Given the description of an element on the screen output the (x, y) to click on. 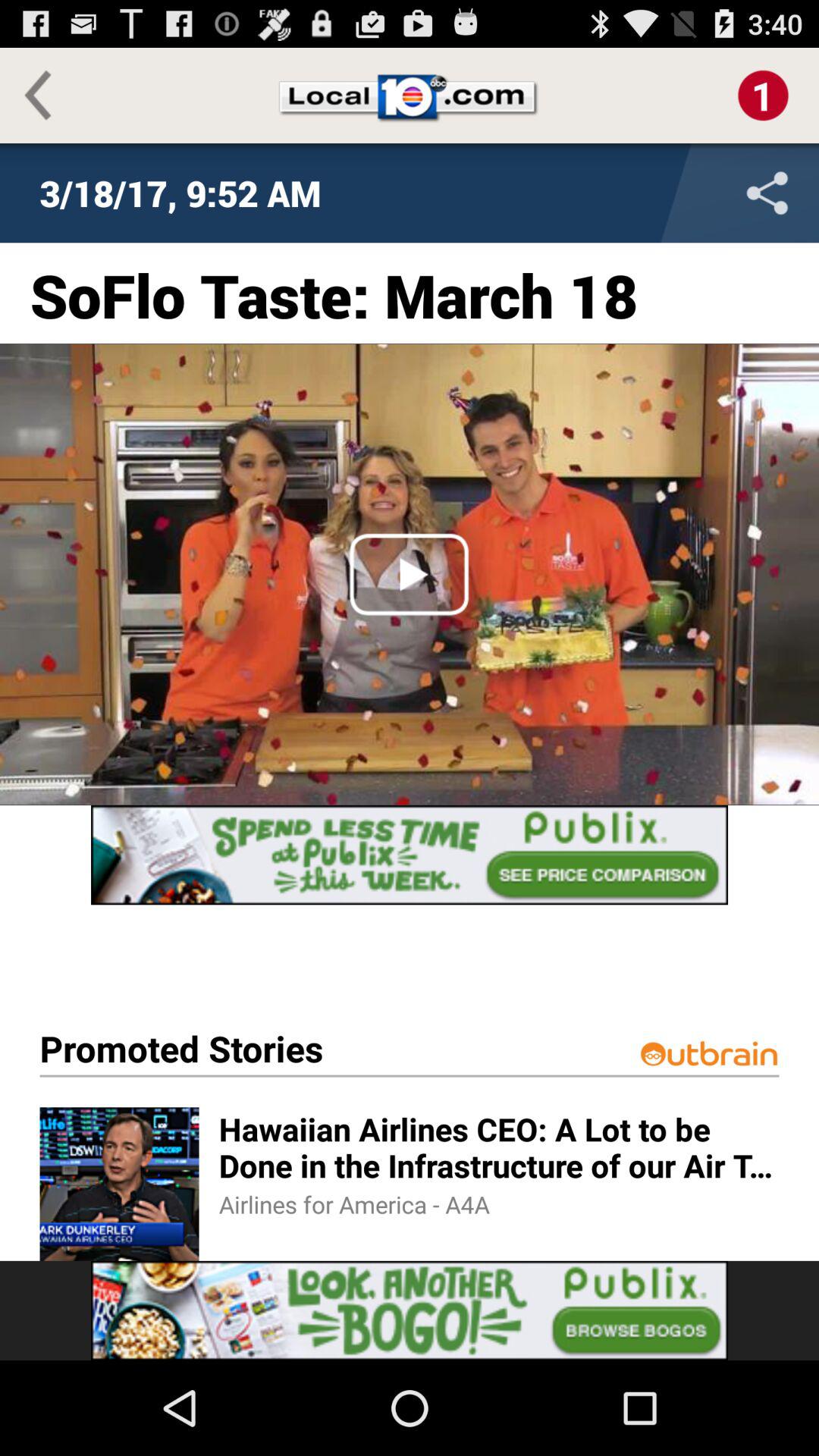
go to advertisement (409, 854)
